Given the description of an element on the screen output the (x, y) to click on. 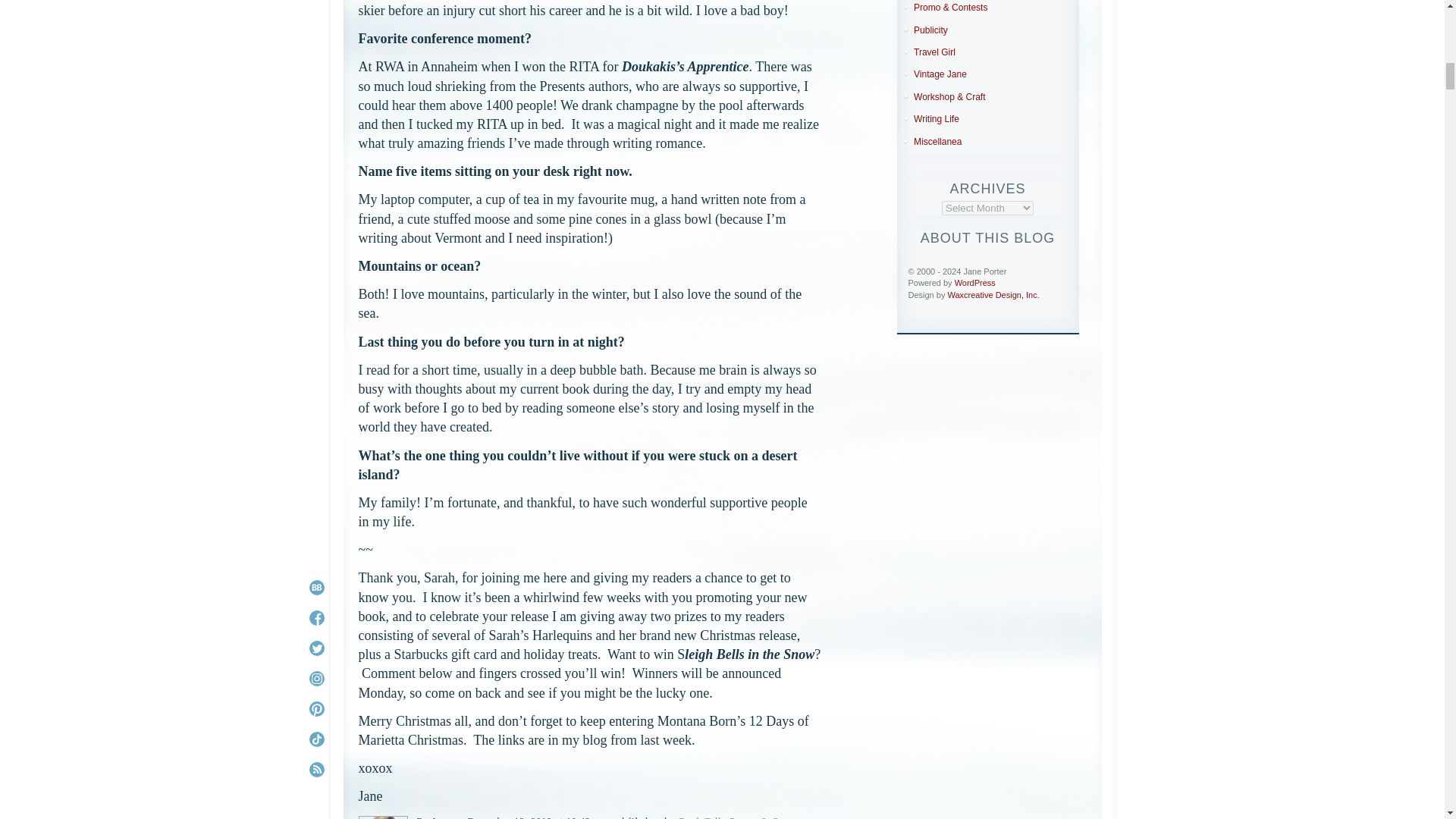
Book Talk (700, 817)
